Given the description of an element on the screen output the (x, y) to click on. 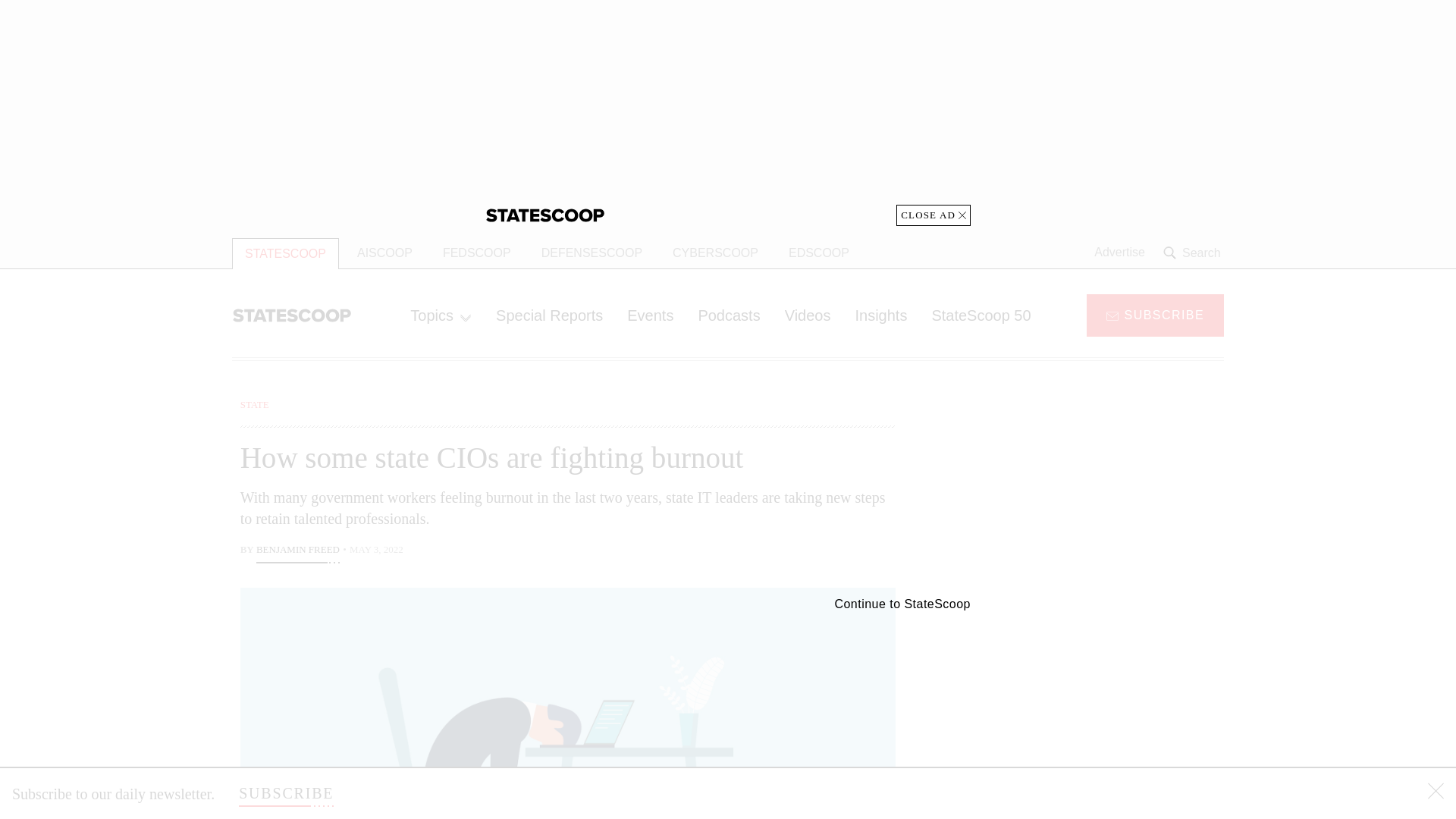
Topics (440, 315)
AISCOOP (385, 253)
Videos (808, 315)
StateScoop 50 (980, 315)
3rd party ad content (1101, 705)
Advertise (1119, 252)
Podcasts (728, 315)
